Given the description of an element on the screen output the (x, y) to click on. 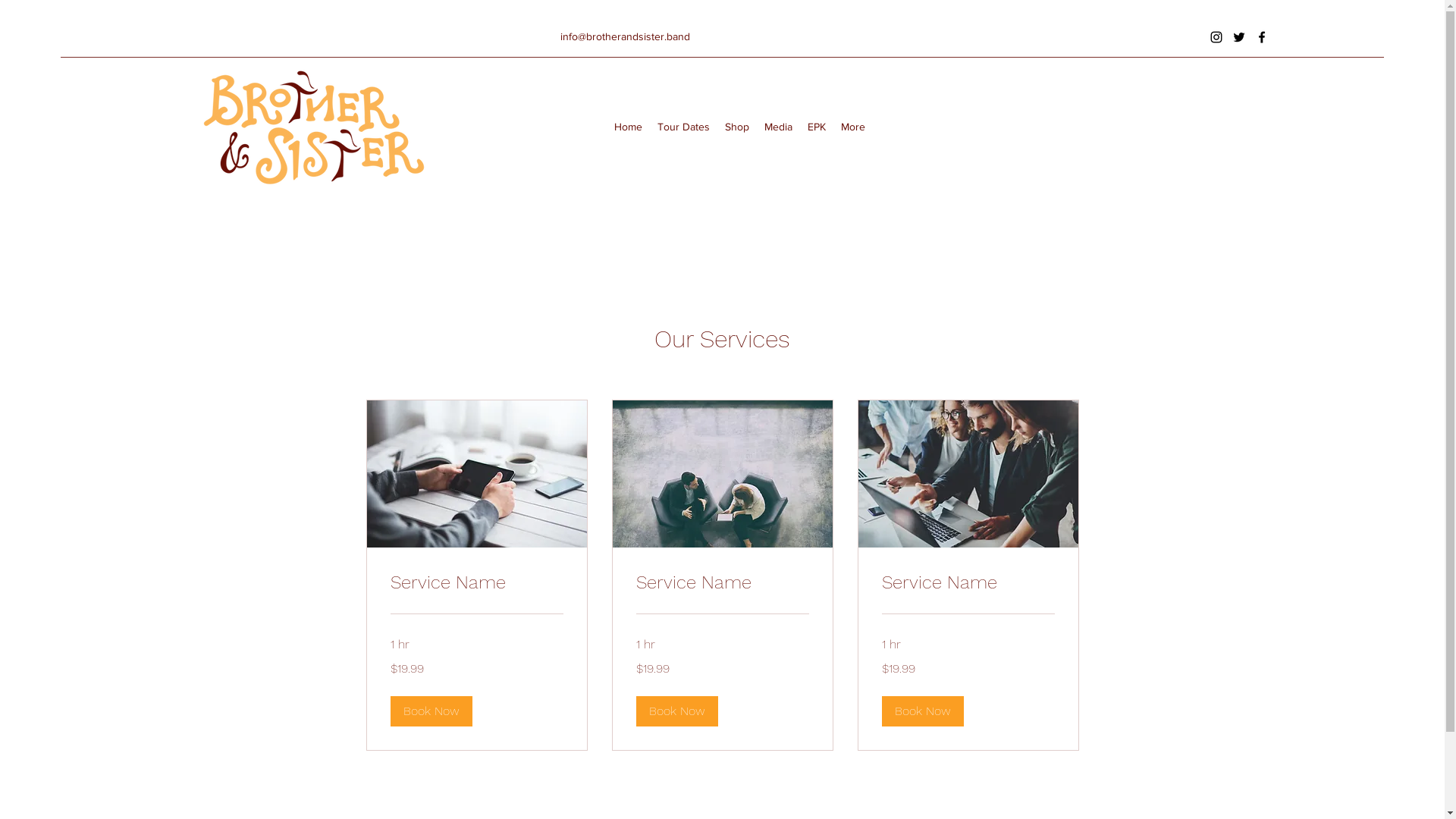
Home Element type: text (627, 126)
Shop Element type: text (736, 126)
Tour Dates Element type: text (683, 126)
Service Name Element type: text (475, 583)
Book Now Element type: text (922, 711)
Book Now Element type: text (430, 711)
info@brotherandsister.band Element type: text (625, 36)
Book Now Element type: text (676, 711)
Service Name Element type: text (721, 583)
Service Name Element type: text (967, 583)
EPK Element type: text (816, 126)
Media Element type: text (778, 126)
